Given the description of an element on the screen output the (x, y) to click on. 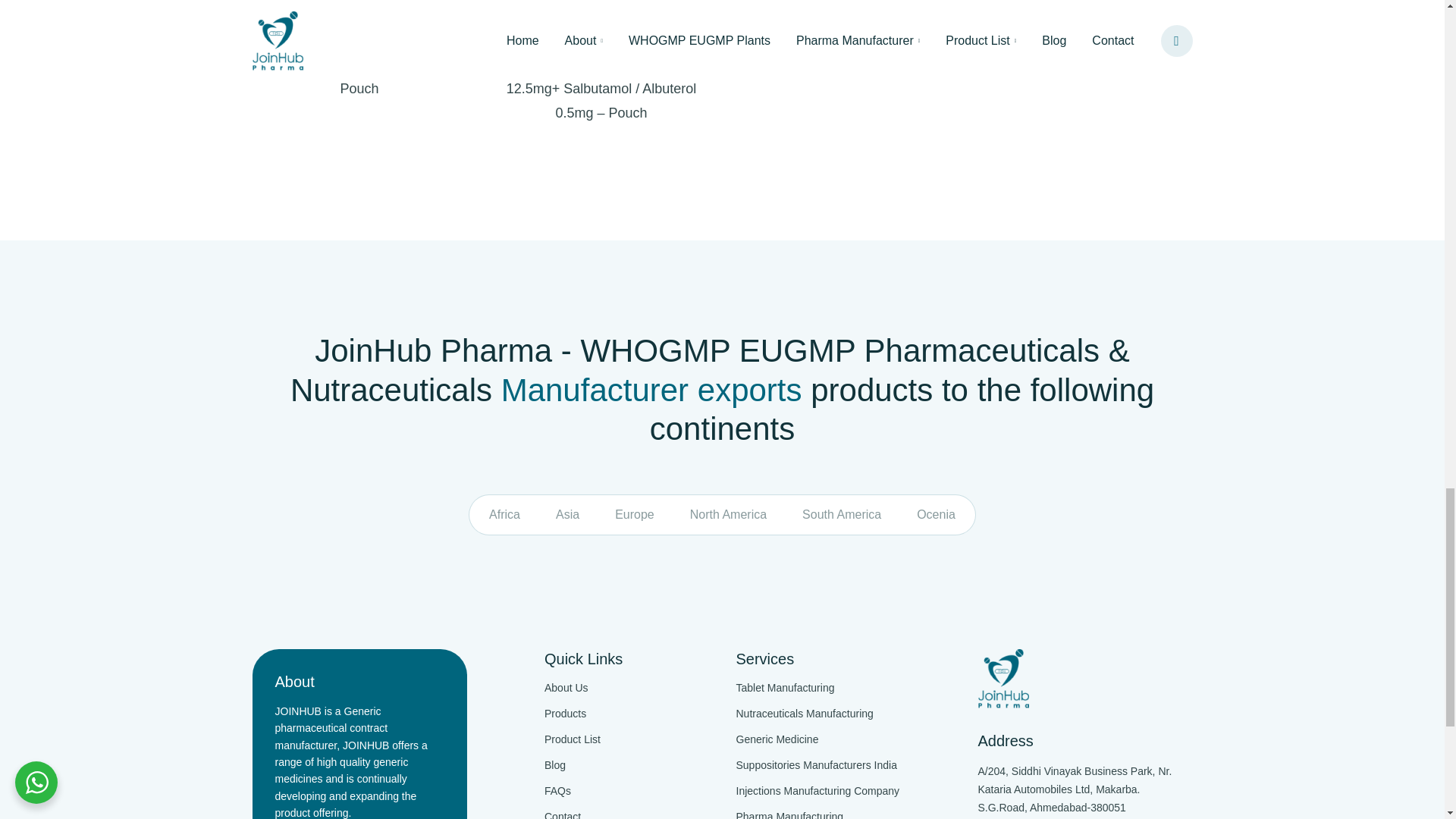
Africa (504, 514)
